Given the description of an element on the screen output the (x, y) to click on. 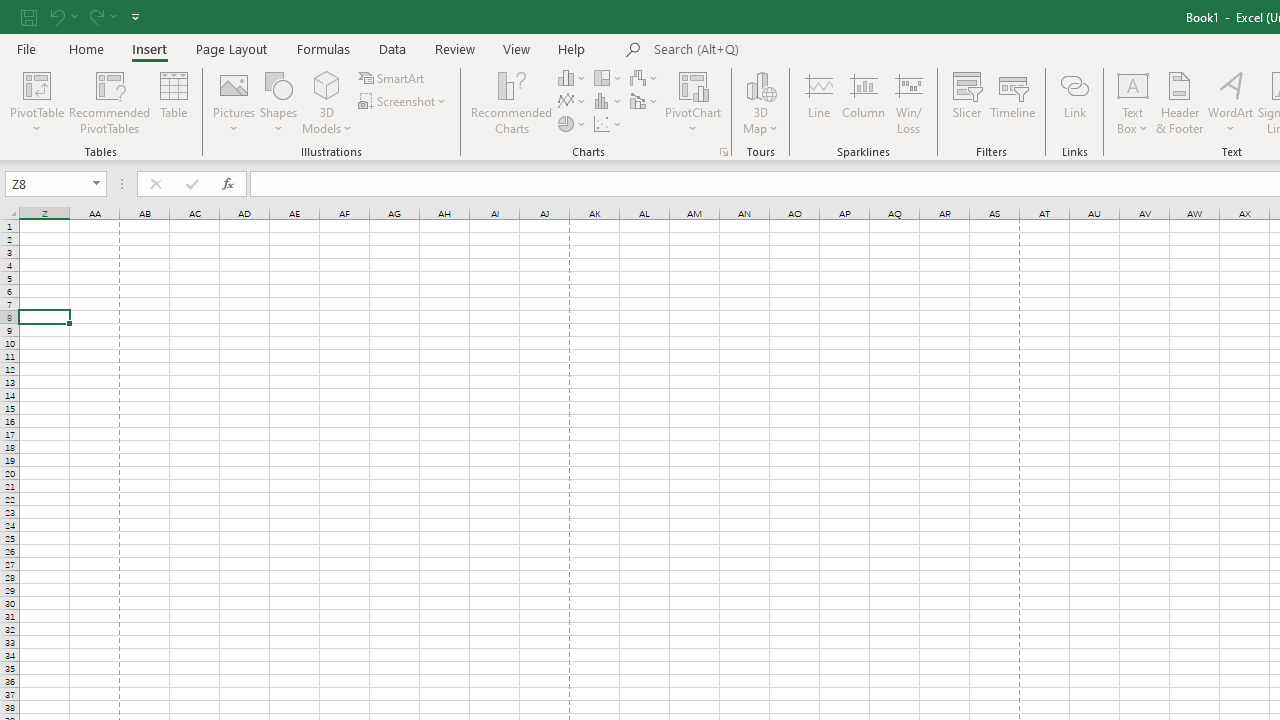
Header & Footer... (1179, 102)
Insert Pie or Doughnut Chart (573, 124)
Link (1074, 102)
Insert Combo Chart (645, 101)
Insert Scatter (X, Y) or Bubble Chart (609, 124)
Timeline (1013, 102)
